Given the description of an element on the screen output the (x, y) to click on. 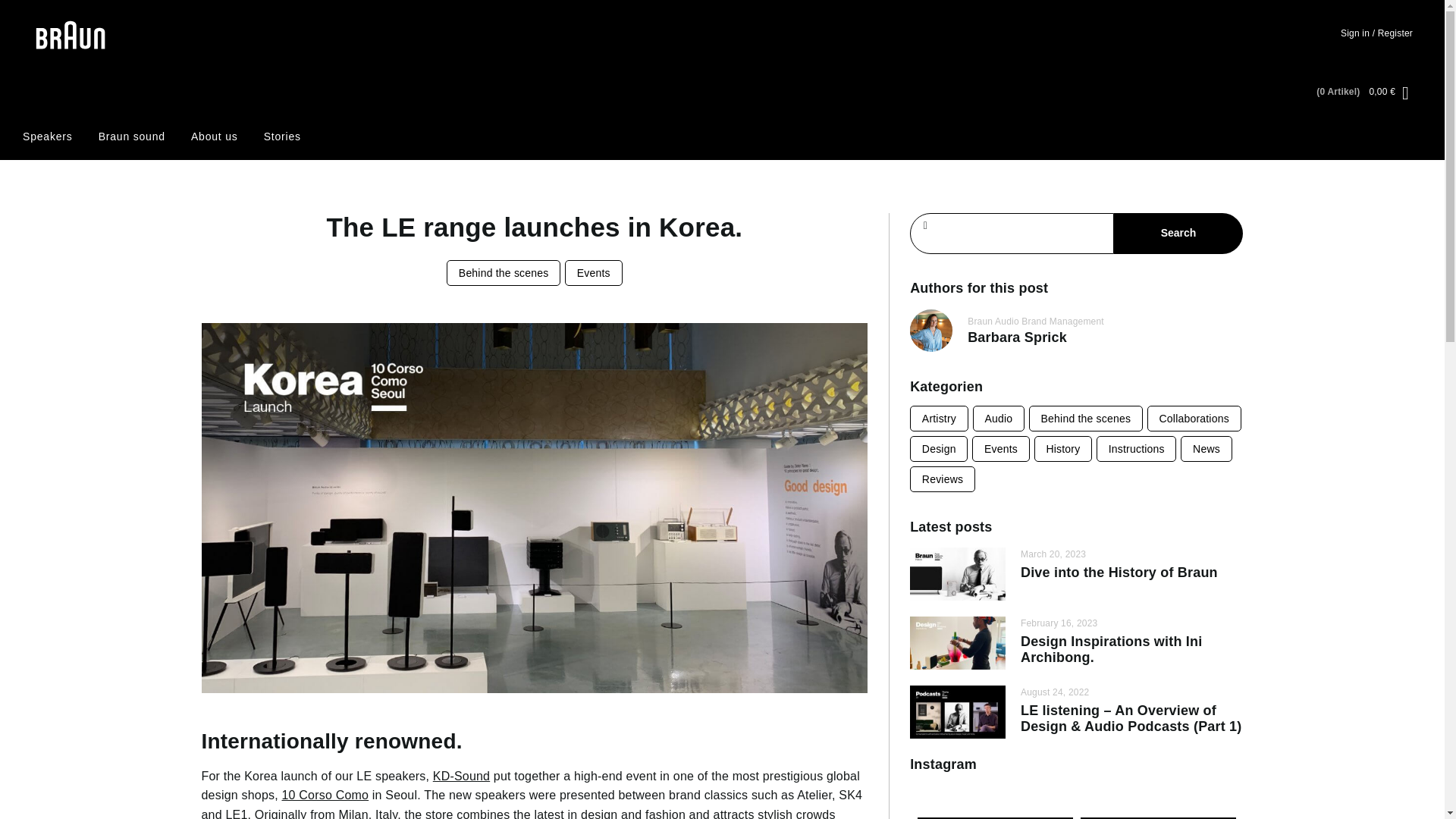
Events (592, 272)
10 Corso Como (324, 794)
Braun sound (131, 135)
Braun sound (131, 135)
Speakers (47, 135)
About us (213, 135)
Behind the scenes (503, 272)
About us (213, 135)
KD-Sound (460, 775)
Stories (282, 135)
